Given the description of an element on the screen output the (x, y) to click on. 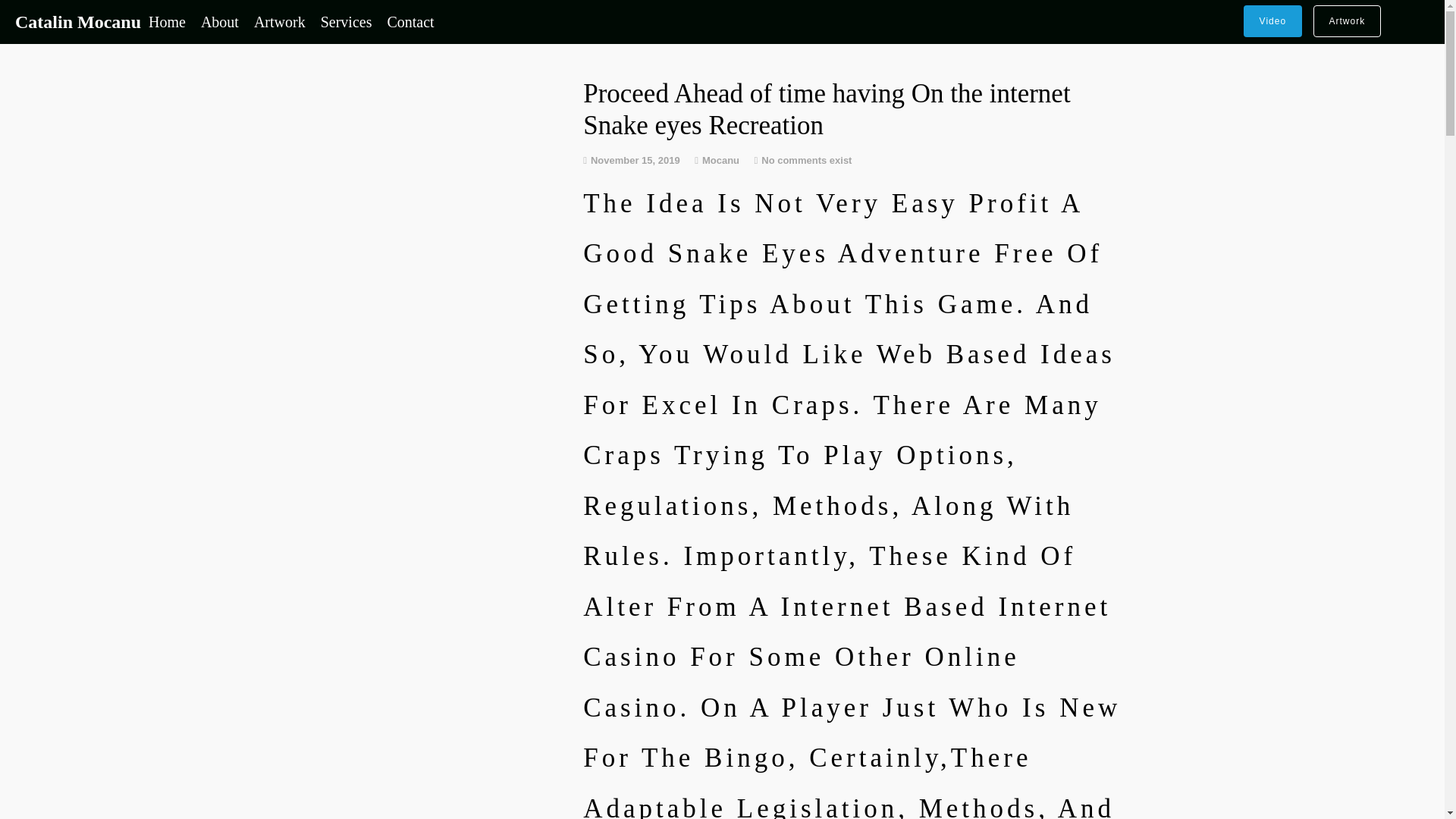
Catalin Mocanu (77, 21)
Home (167, 22)
Services (346, 22)
Artwork (1347, 20)
Artwork (279, 22)
About (219, 22)
Video (1272, 20)
Contact (409, 22)
No comments exist (806, 160)
